Given the description of an element on the screen output the (x, y) to click on. 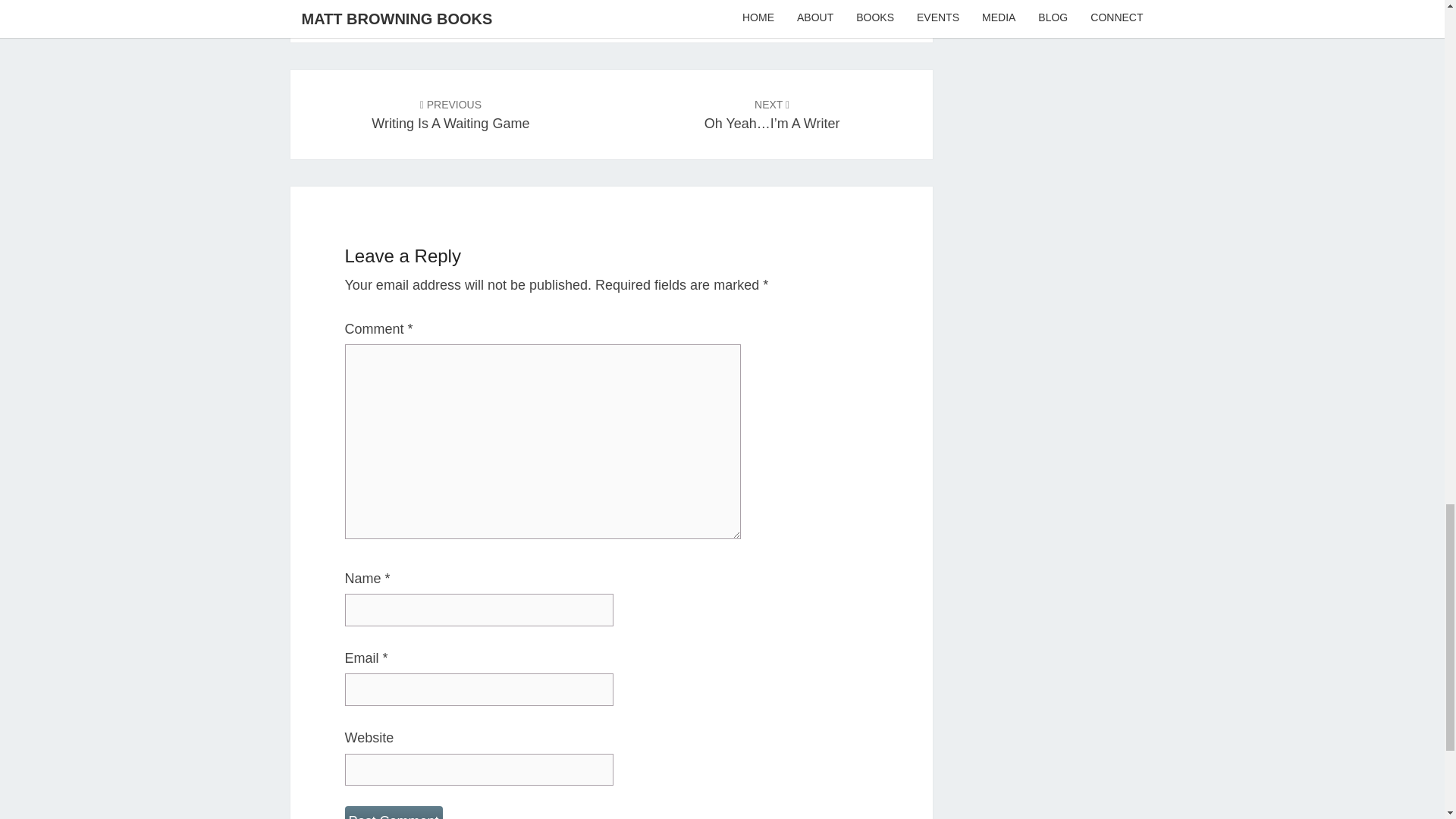
Post Comment (392, 812)
Post Comment (392, 812)
Writing Process (403, 2)
